Given the description of an element on the screen output the (x, y) to click on. 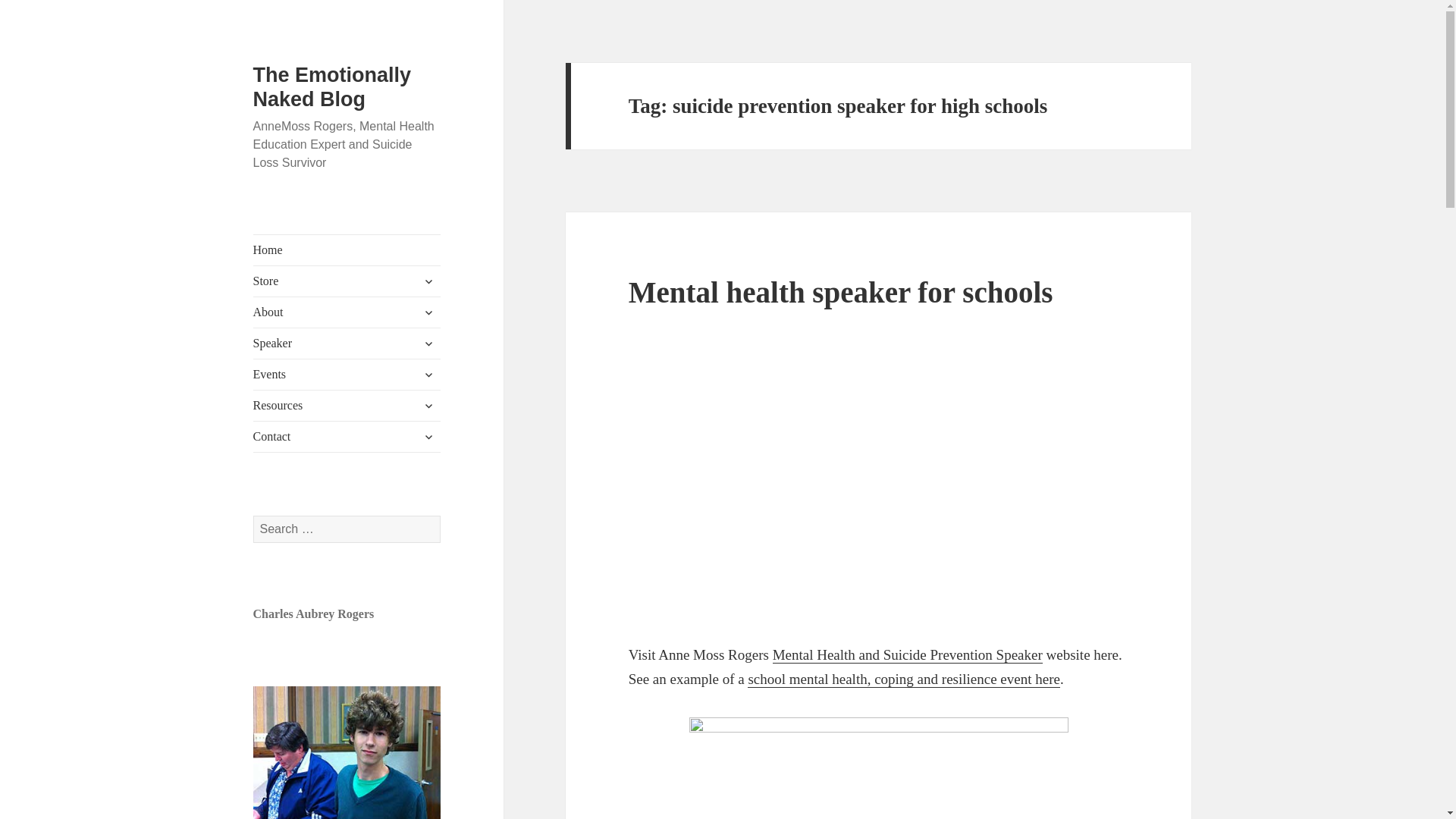
expand child menu (428, 374)
Store (347, 281)
Events (347, 374)
Home (347, 250)
expand child menu (428, 343)
expand child menu (428, 436)
Contact (347, 436)
Resources (347, 405)
